Given the description of an element on the screen output the (x, y) to click on. 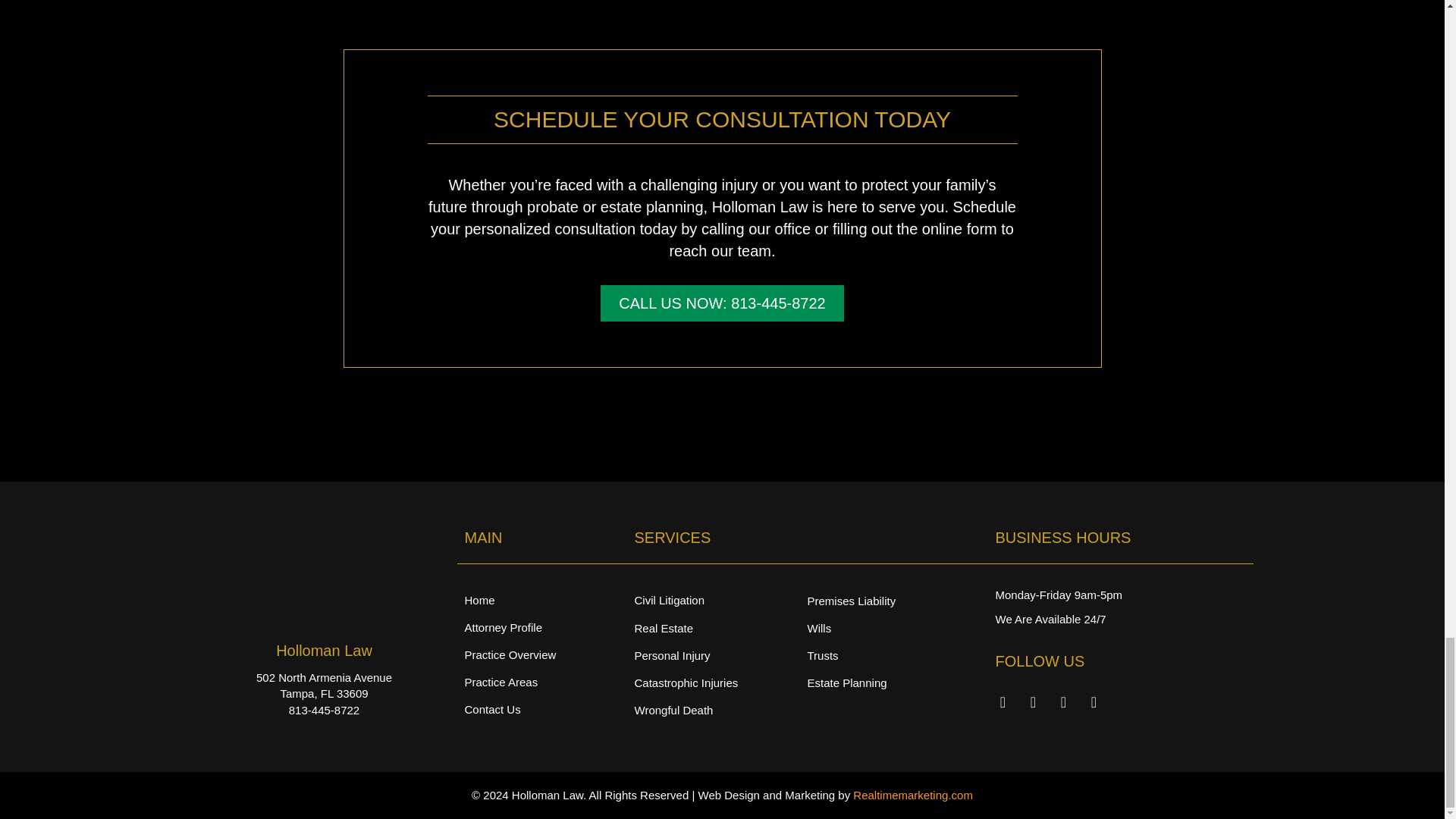
Attorney Profile (541, 627)
Contact Us (541, 709)
Practice Areas (541, 682)
Real Estate (719, 628)
Catastrophic Injuries (719, 682)
Premises Liability (892, 601)
Home (541, 600)
Practice Overview (541, 654)
Wills (892, 628)
813-445-8722 (323, 709)
Personal Injury (719, 655)
Civil Litigation (719, 600)
CALL US NOW: 813-445-8722 (721, 303)
logo-lg (324, 575)
Trusts (892, 655)
